Given the description of an element on the screen output the (x, y) to click on. 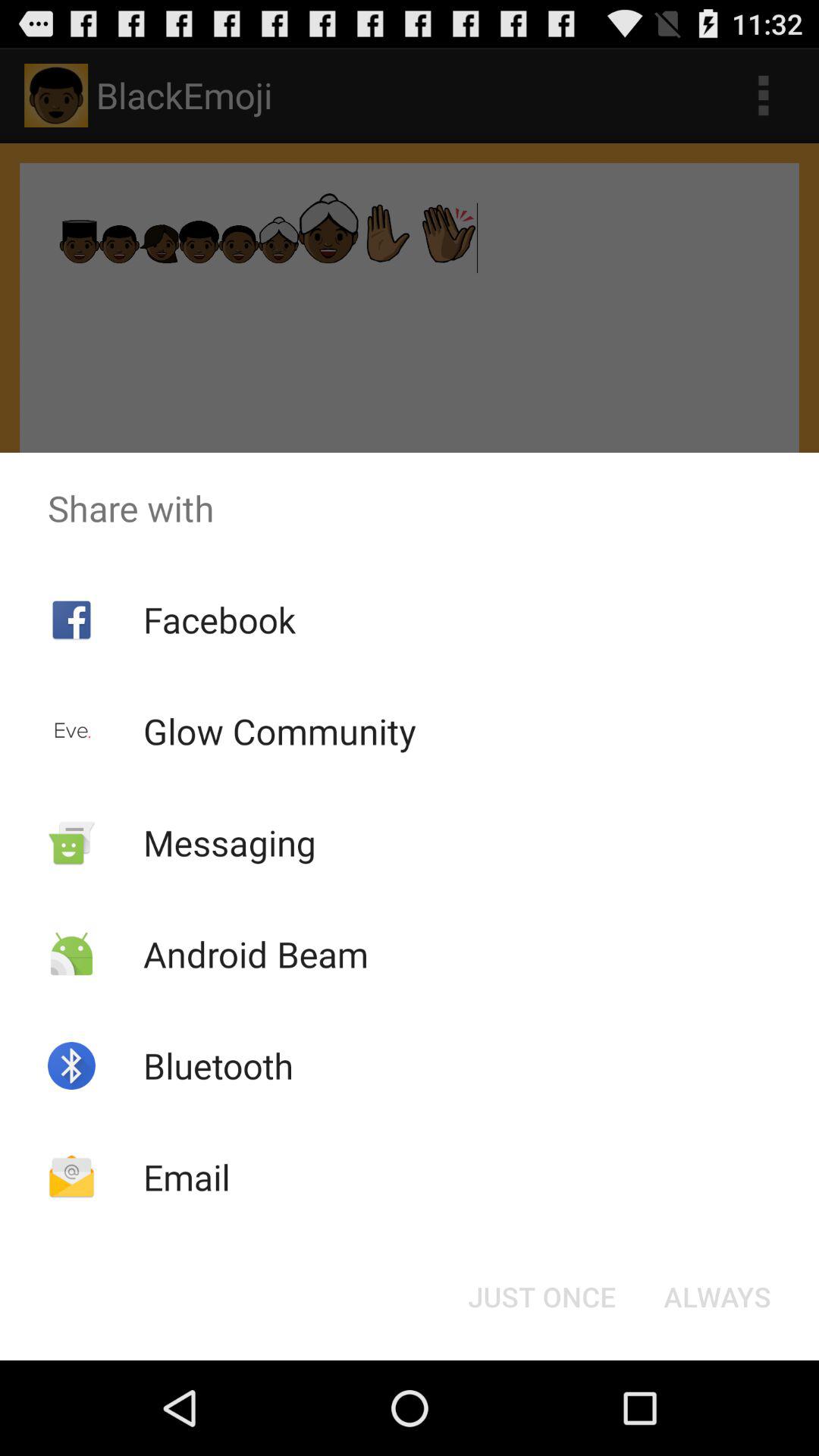
swipe to always (717, 1296)
